Given the description of an element on the screen output the (x, y) to click on. 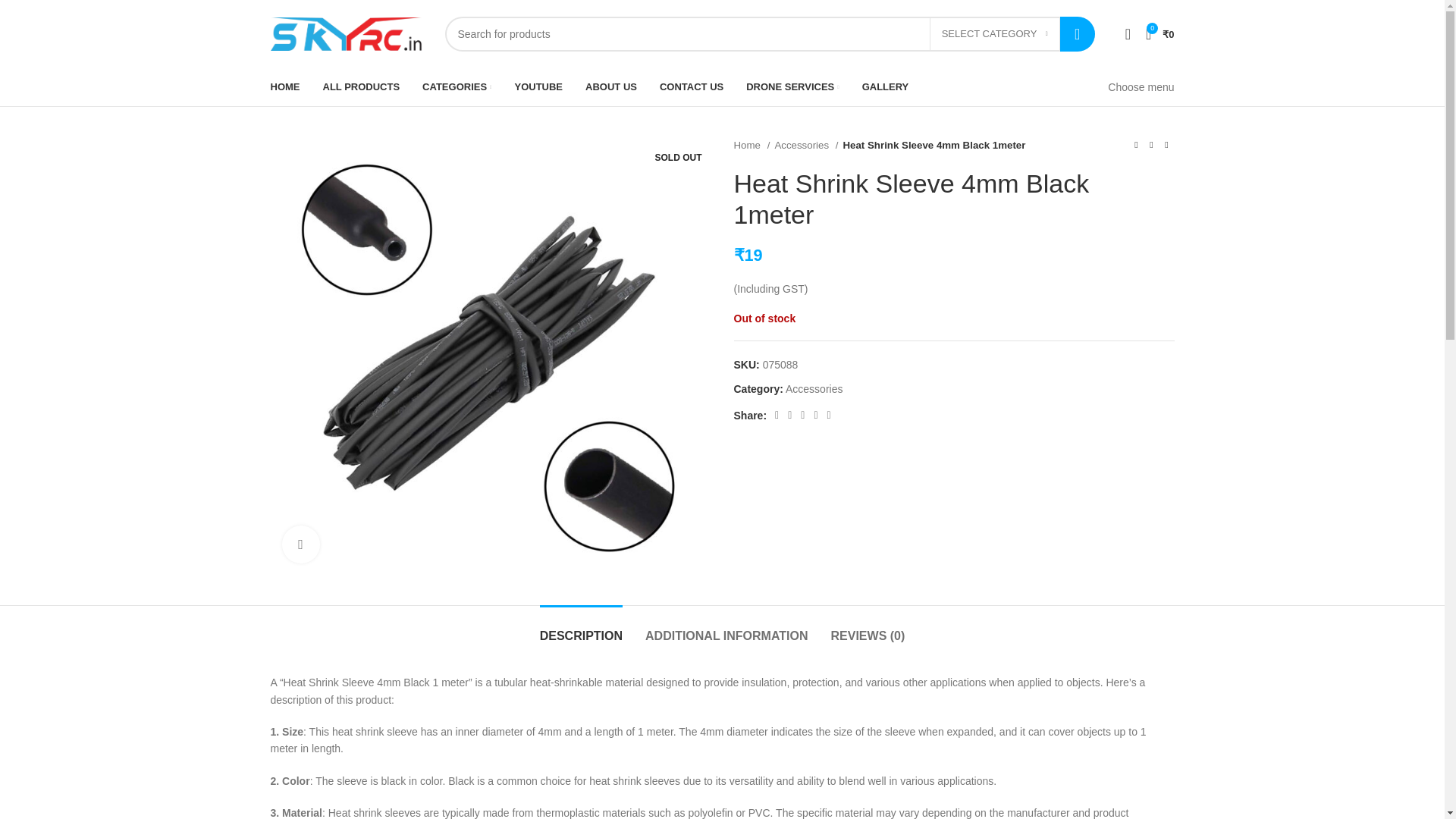
Search for products (769, 33)
CATEGORIES (457, 87)
SELECT CATEGORY (994, 33)
SEARCH (1076, 33)
SELECT CATEGORY (994, 33)
Log in (1005, 275)
ALL PRODUCTS (361, 87)
HOME (284, 87)
Shopping cart (1160, 33)
